Given the description of an element on the screen output the (x, y) to click on. 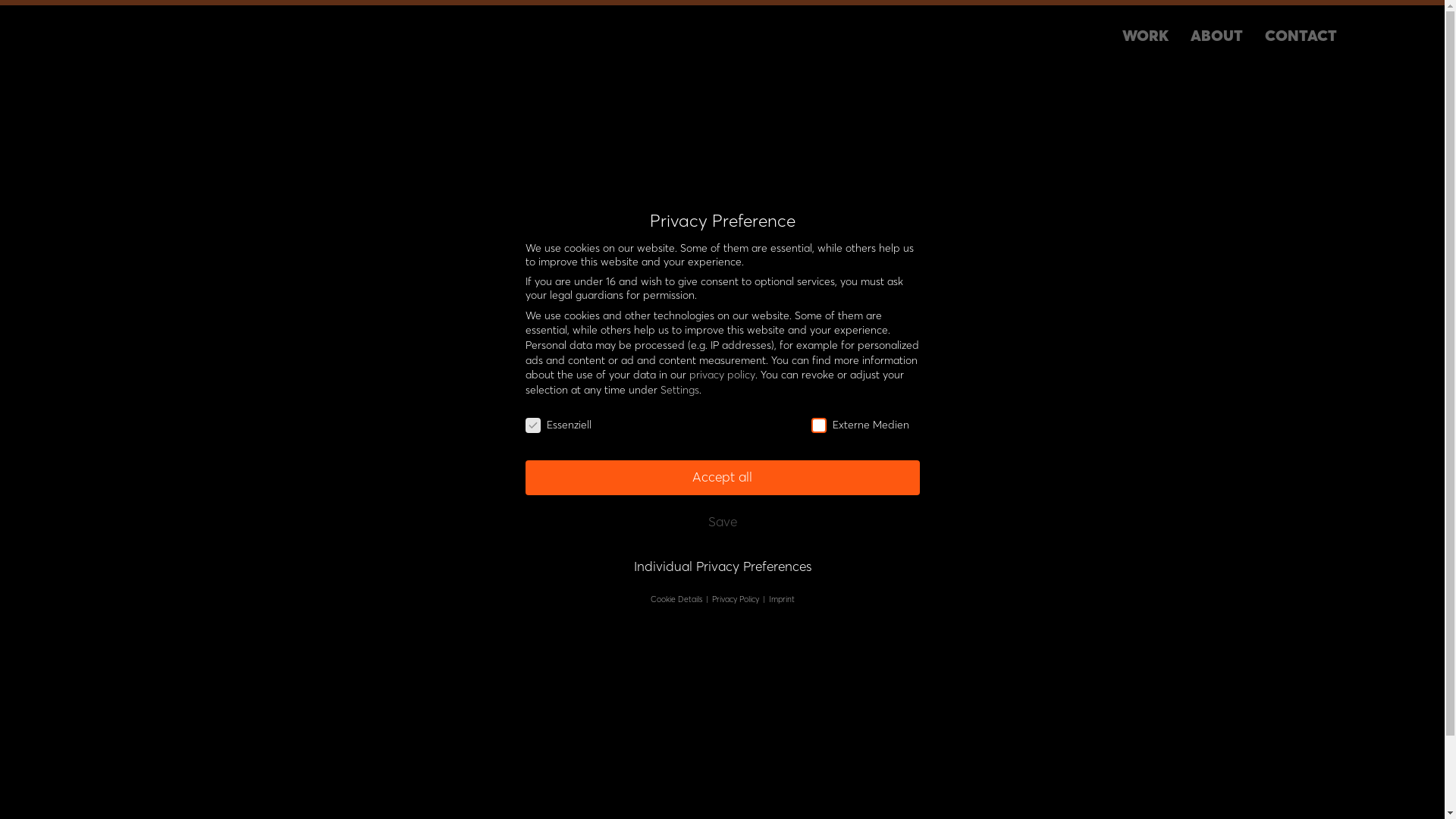
Privacy Policy Element type: text (735, 599)
Individual Privacy Preferences Element type: text (721, 566)
Save Element type: text (721, 522)
Settings Element type: text (678, 389)
CONTACT Element type: text (1300, 34)
Accept all Element type: text (721, 477)
Cookie Details Element type: text (677, 599)
WORK Element type: text (1145, 34)
Imprint Element type: text (781, 599)
ABOUT Element type: text (1216, 34)
privacy policy Element type: text (721, 374)
